Given the description of an element on the screen output the (x, y) to click on. 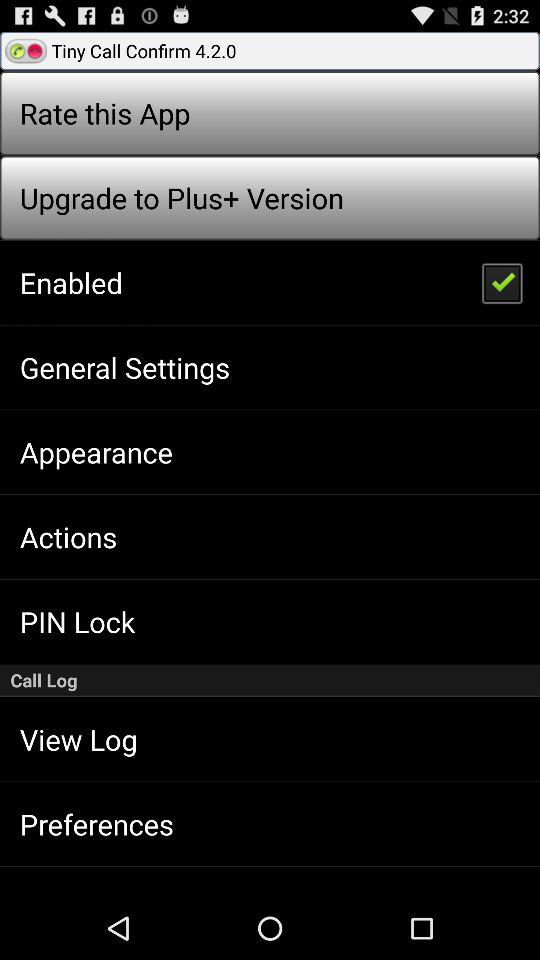
turn off icon to the right of the enabled app (501, 282)
